Given the description of an element on the screen output the (x, y) to click on. 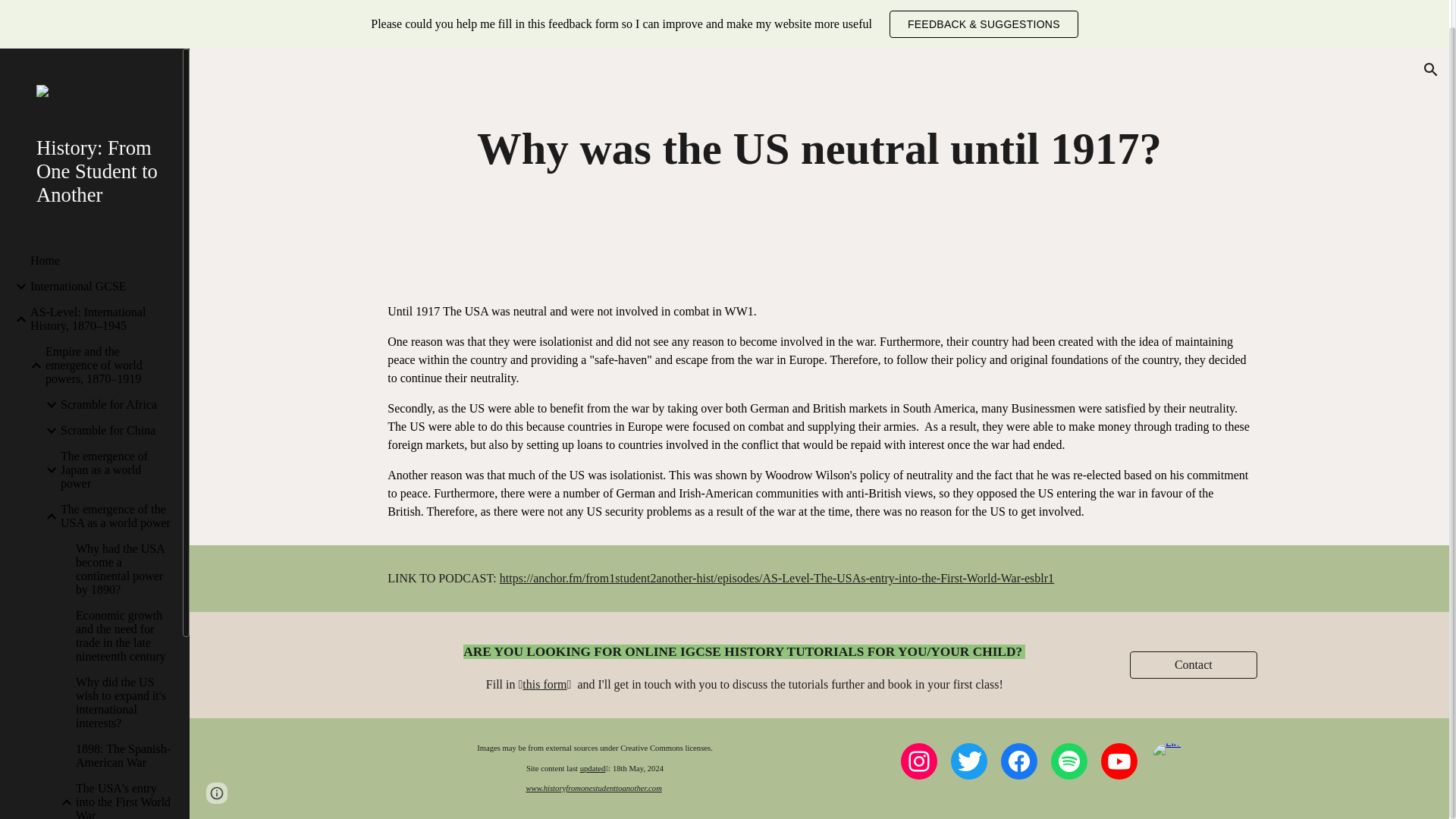
International GCSE (100, 258)
Home (100, 232)
History: From One Student to Another (97, 143)
